Given the description of an element on the screen output the (x, y) to click on. 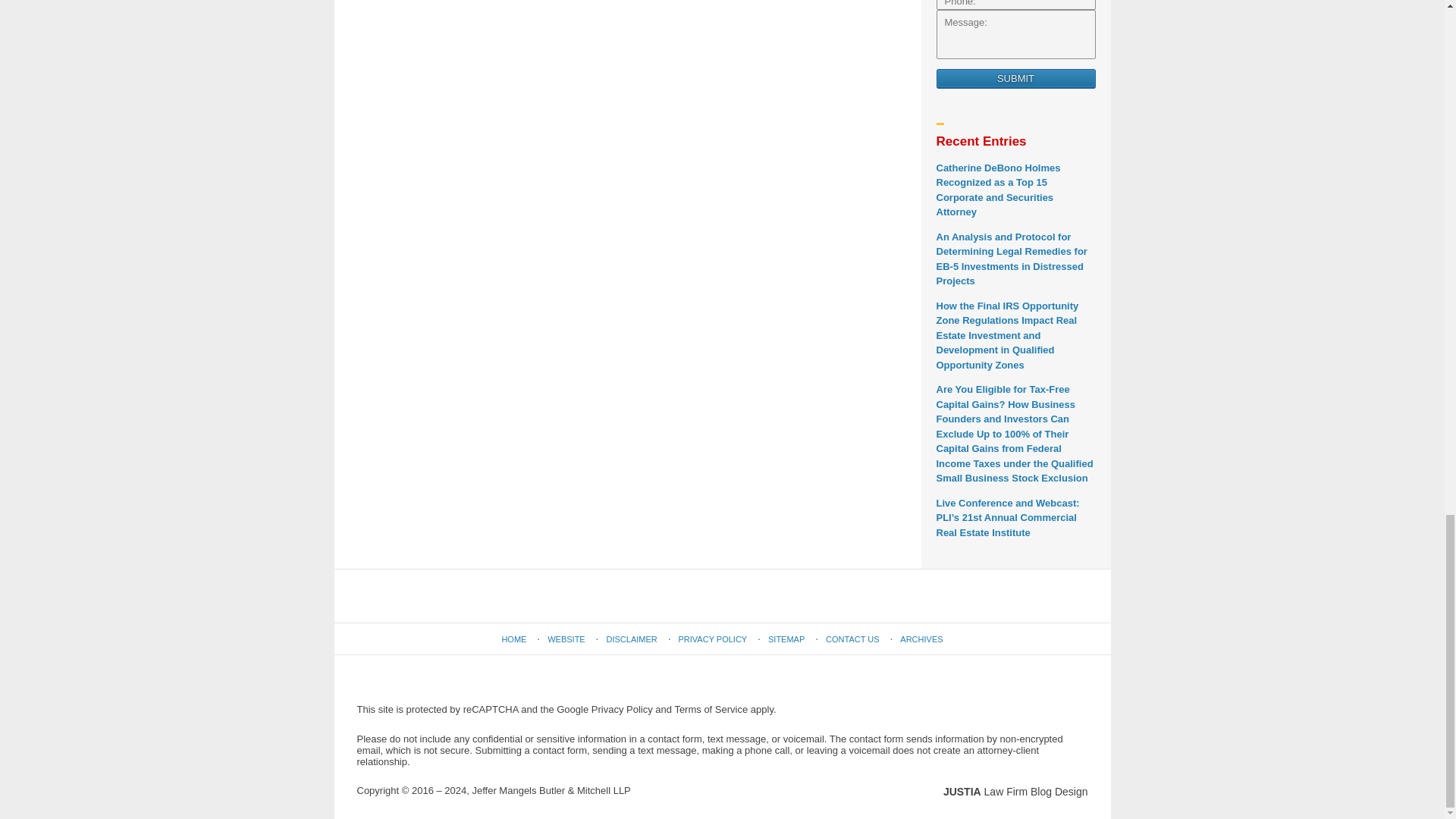
Please enter a valid phone number. (1015, 4)
